Given the description of an element on the screen output the (x, y) to click on. 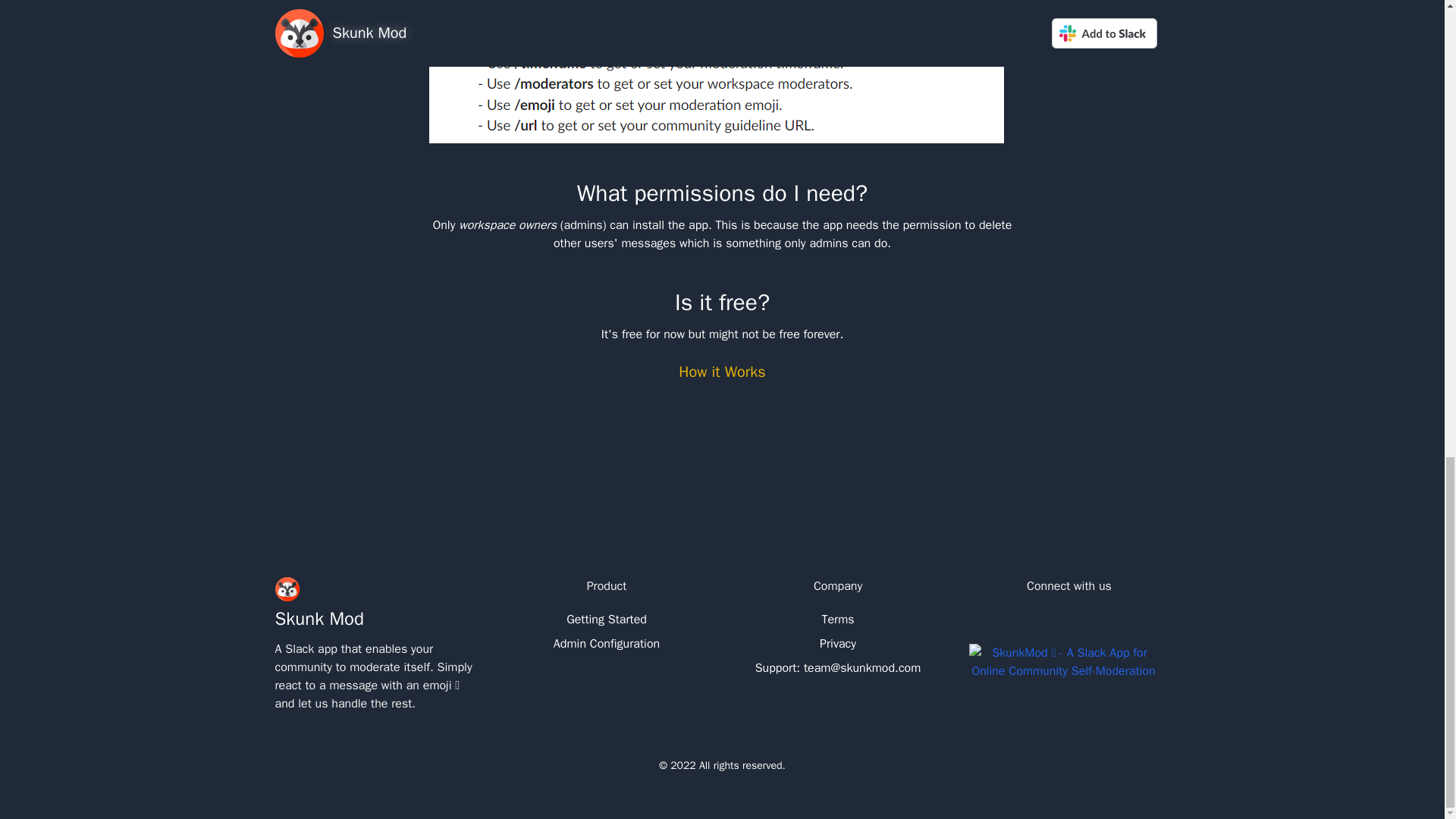
Skunk Mod (318, 618)
Privacy (836, 643)
Terms (836, 619)
Admin Configuration (606, 643)
How it Works (721, 371)
twitter (1069, 624)
Getting Started (606, 619)
